Given the description of an element on the screen output the (x, y) to click on. 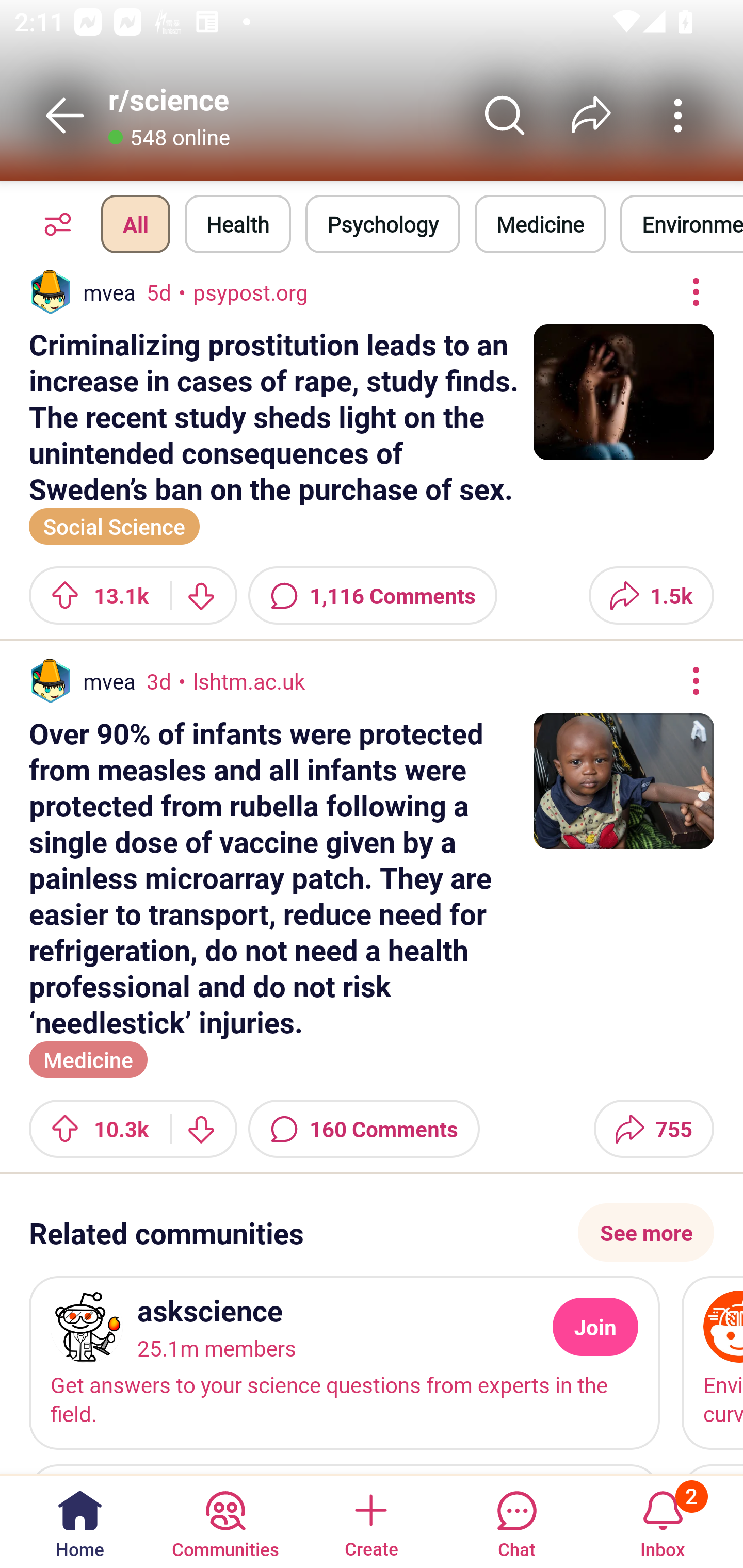
Back (64, 115)
Search r/﻿science (504, 115)
Share r/﻿science (591, 115)
More community actions (677, 115)
Feed Options (53, 224)
All (135, 224)
Health (238, 224)
Psychology (382, 224)
Medicine (539, 224)
Environment (681, 224)
Social Science (113, 524)
Medicine (87, 1057)
Related communities See more (371, 1233)
See more (646, 1233)
Join (595, 1327)
Home (80, 1520)
Communities (225, 1520)
Create a post Create (370, 1520)
Chat (516, 1520)
Inbox, has 2 notifications 2 Inbox (662, 1520)
